Given the description of an element on the screen output the (x, y) to click on. 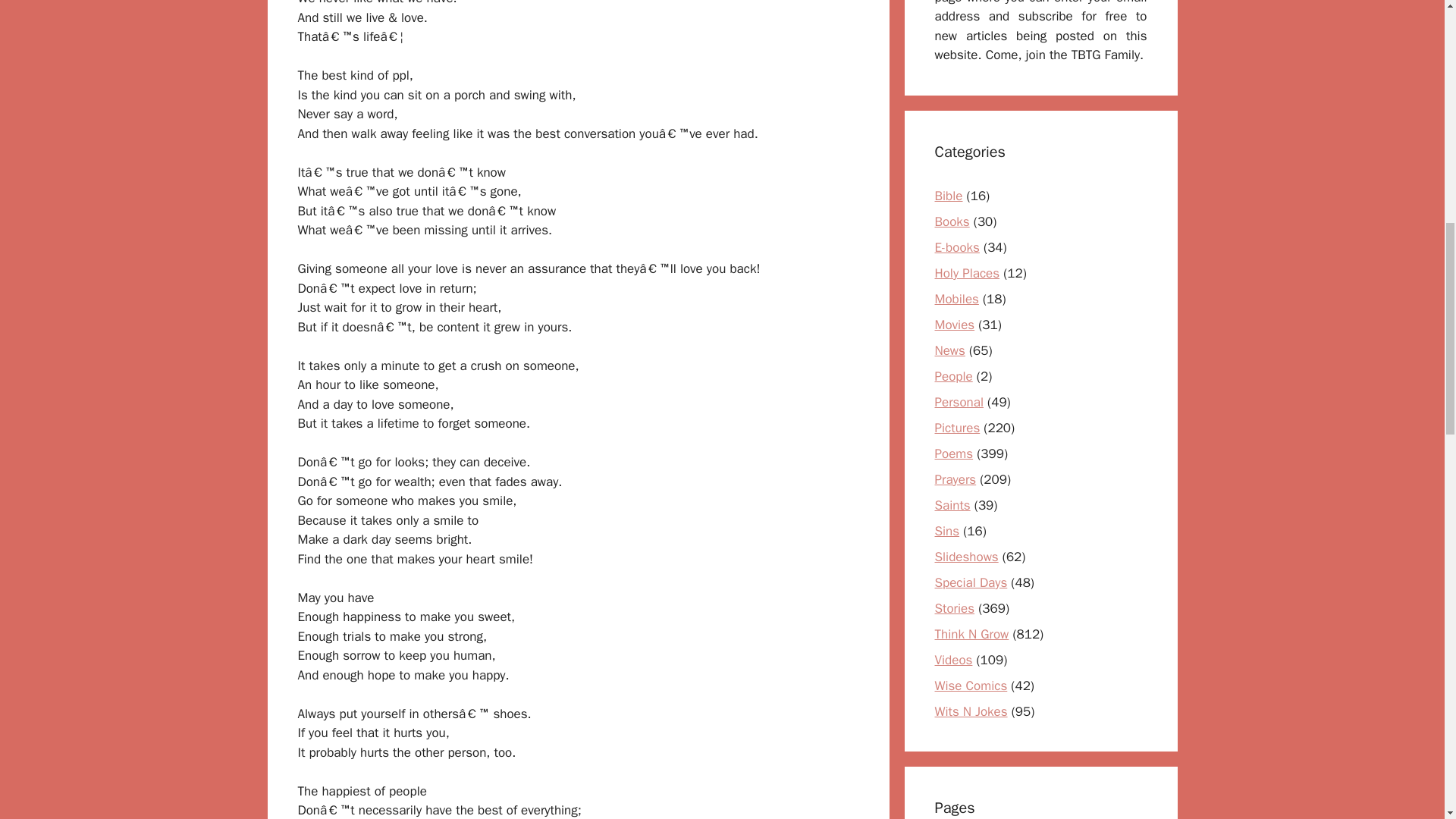
Bible (948, 195)
